Given the description of an element on the screen output the (x, y) to click on. 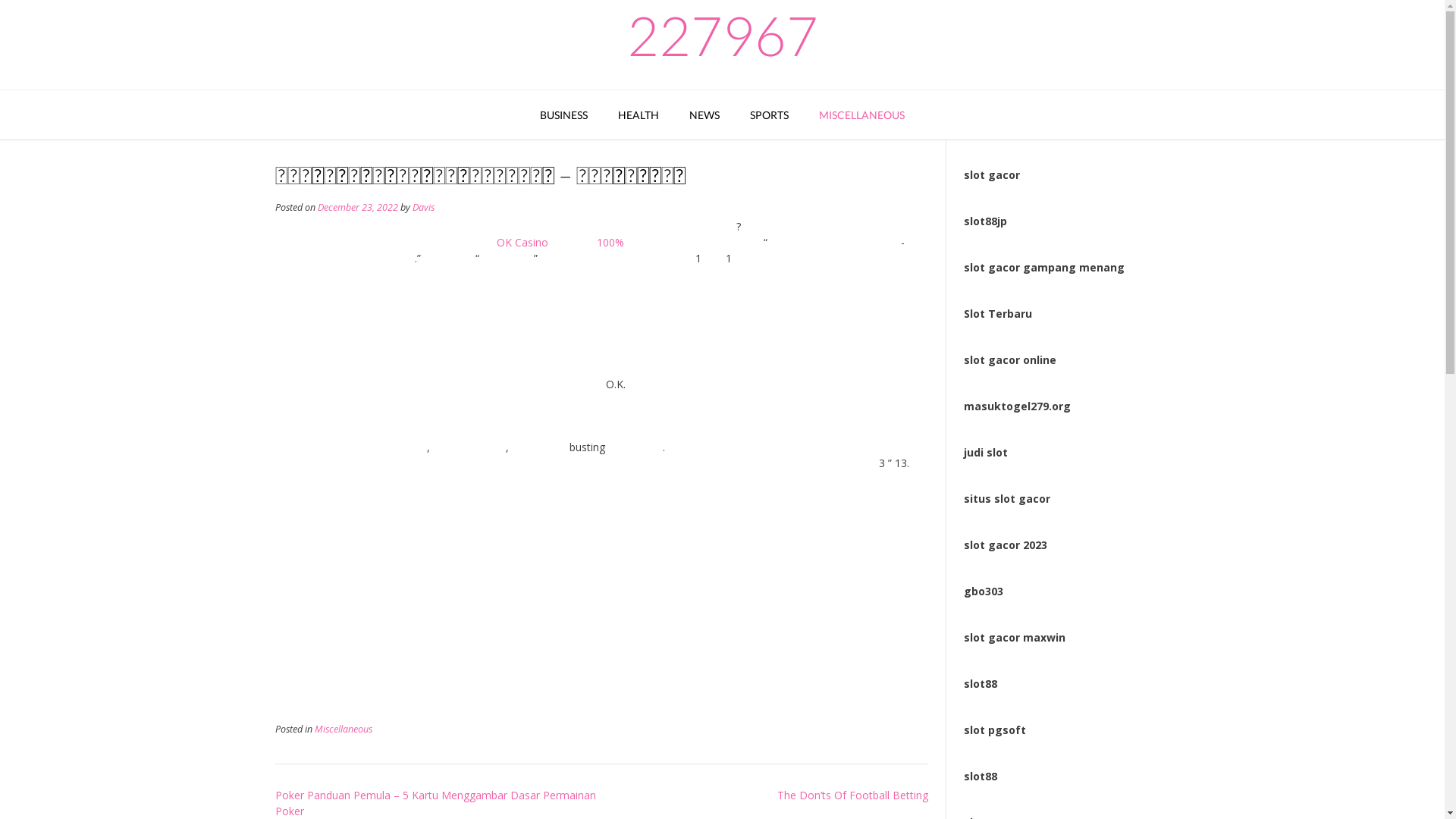
masuktogel279.org Element type: text (1016, 405)
slot gacor Element type: text (991, 174)
slot gacor maxwin Element type: text (1014, 637)
slot88jp Element type: text (985, 220)
December 23, 2022 Element type: text (356, 206)
SPORTS Element type: text (768, 115)
Davis Element type: text (423, 206)
227967 Element type: text (721, 34)
slot pgsoft Element type: text (994, 729)
HEALTH Element type: text (638, 115)
Slot Terbaru Element type: text (997, 313)
slot88 Element type: text (980, 775)
BUSINESS Element type: text (563, 115)
judi slot Element type: text (985, 452)
Miscellaneous Element type: text (342, 728)
slot88 Element type: text (980, 683)
slot gacor 2023 Element type: text (1005, 544)
MISCELLANEOUS Element type: text (861, 115)
situs slot gacor Element type: text (1006, 498)
slot gacor gampang menang Element type: text (1043, 267)
NEWS Element type: text (704, 115)
gbo303 Element type: text (983, 590)
slot gacor online Element type: text (1009, 359)
